Given the description of an element on the screen output the (x, y) to click on. 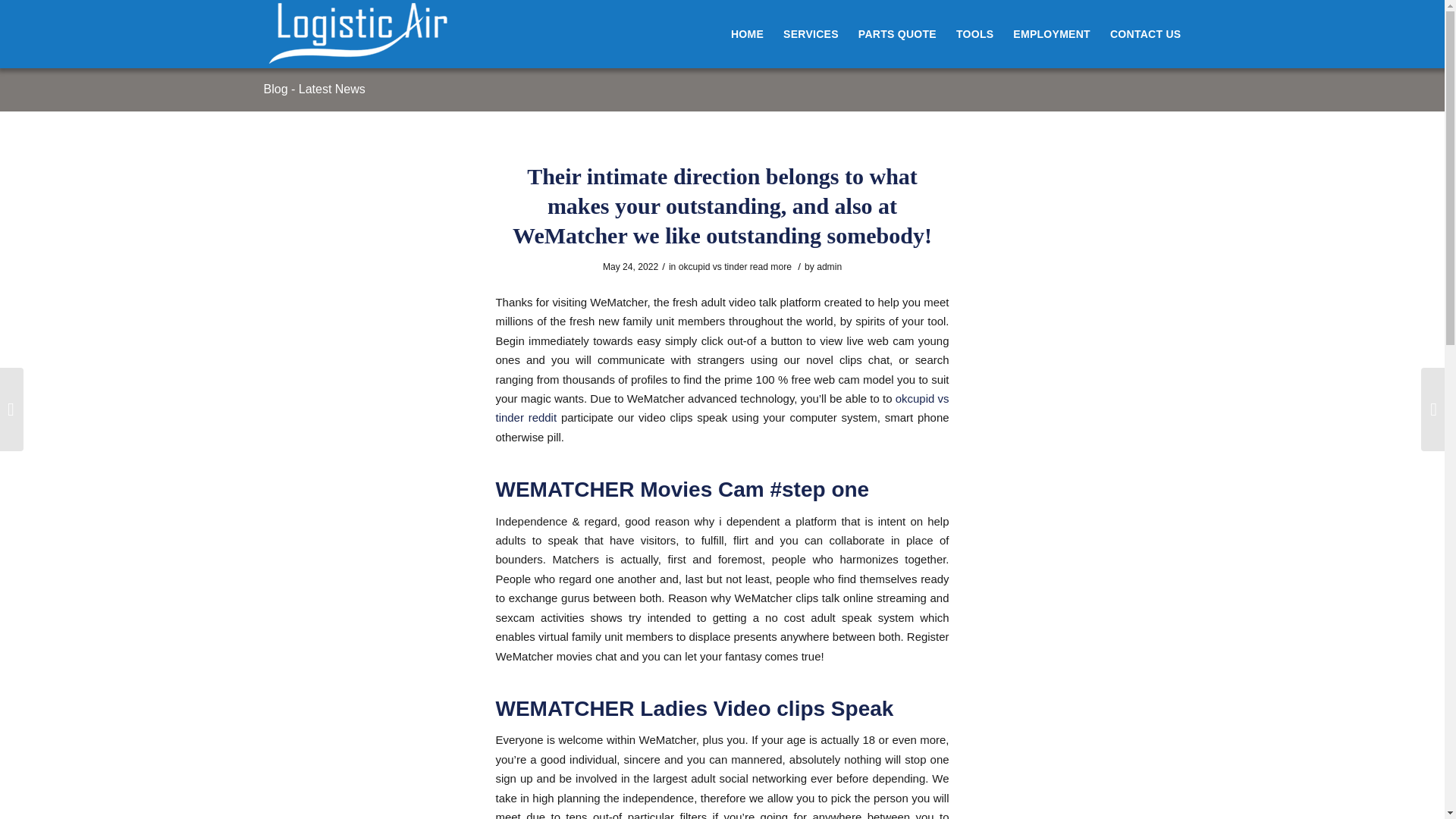
Posts by admin (828, 266)
Permanent Link: Blog - Latest News (314, 88)
CONTACT US (1140, 33)
EMPLOYMENT (1051, 33)
PARTS QUOTE (897, 33)
okcupid vs tinder reddit (722, 408)
okcupid vs tinder read more (735, 266)
Blog - Latest News (314, 88)
